Given the description of an element on the screen output the (x, y) to click on. 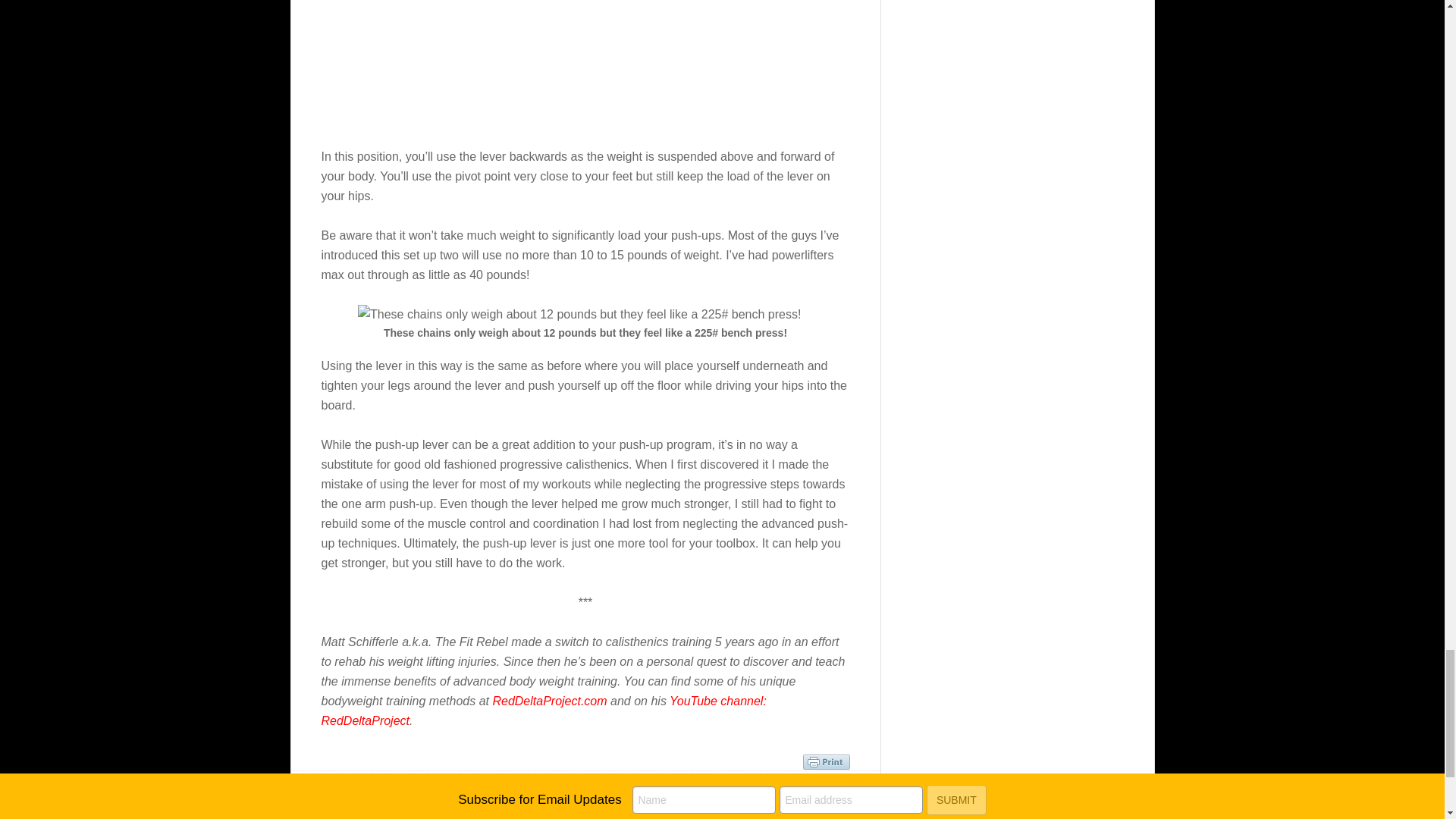
TUTORIAL (549, 801)
PROGRESSIVE CALISTHENICS (700, 815)
PUSH-UP (792, 815)
HOMEMADE FITNESS EQUIPMENT (465, 815)
PROGRESSIVE CALISTHENICS (454, 801)
YouTube channel: RedDeltaProject (544, 710)
MATT SCHIFFERLE (586, 815)
RedDeltaProject.com (549, 700)
PUSH-UP LEVER (584, 815)
